Given the description of an element on the screen output the (x, y) to click on. 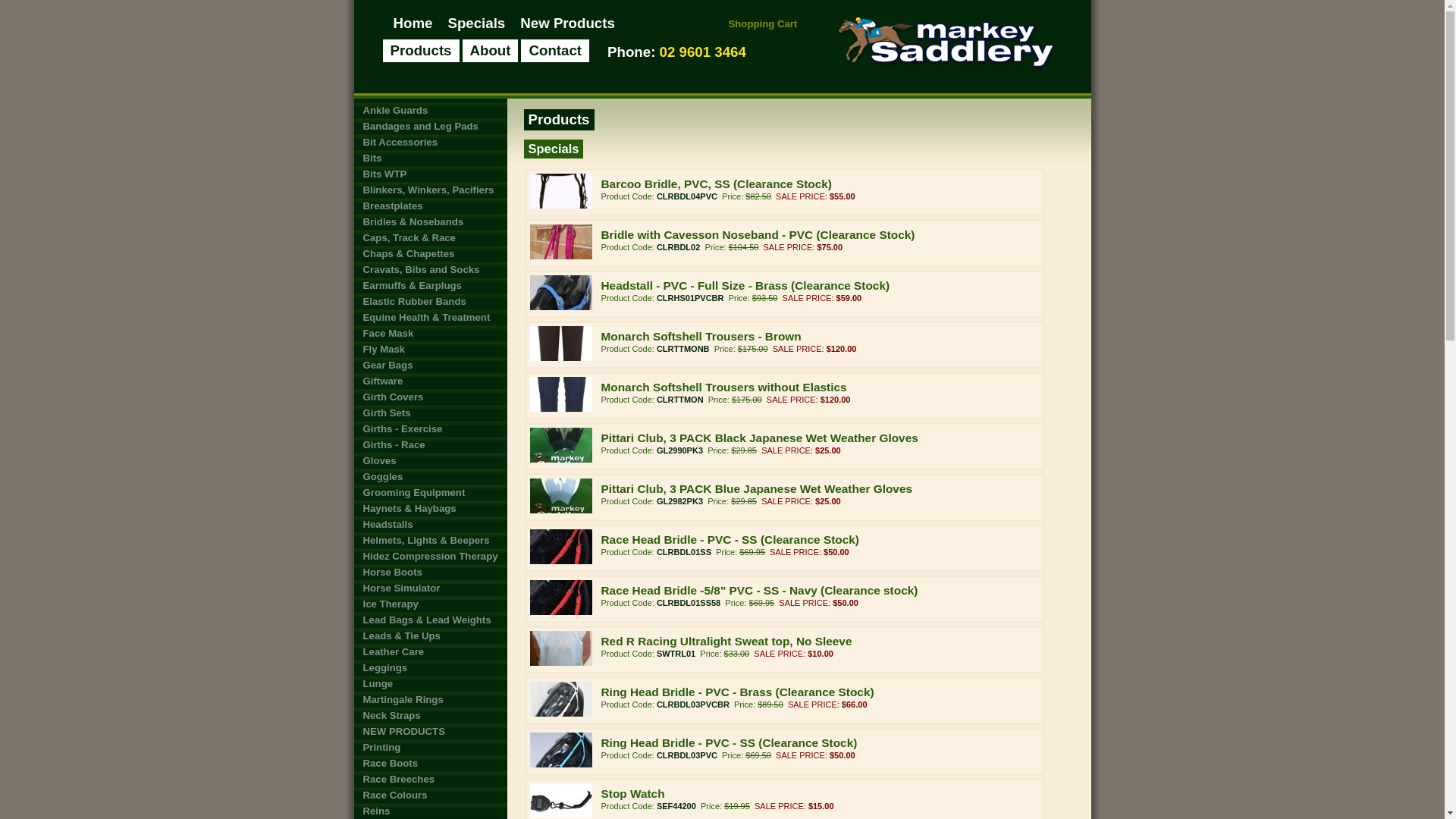
Leather Care Element type: text (429, 651)
Bits WTP Element type: text (429, 174)
Giftware Element type: text (429, 381)
Specials Element type: text (476, 23)
Race Colours Element type: text (429, 795)
Face Mask Element type: text (429, 333)
Leads & Tie Ups Element type: text (429, 635)
Printing Element type: text (429, 747)
Hidez Compression Therapy Element type: text (429, 556)
Contact Element type: text (554, 50)
Horse Simulator Element type: text (429, 588)
Helmets, Lights & Beepers Element type: text (429, 540)
Bridles & Nosebands Element type: text (429, 221)
Neck Straps Element type: text (429, 715)
Goggles Element type: text (429, 476)
Girths - Exercise Element type: text (429, 428)
About Element type: text (490, 50)
Race Breeches Element type: text (429, 779)
Horse Boots Element type: text (429, 572)
Bits Element type: text (429, 158)
Headstalls Element type: text (429, 524)
Chaps & Chapettes Element type: text (429, 253)
Leggings Element type: text (429, 667)
Products Element type: text (420, 50)
Girth Covers Element type: text (429, 396)
Breastplates Element type: text (429, 205)
Grooming Equipment Element type: text (429, 492)
New Products Element type: text (567, 23)
Gloves Element type: text (429, 460)
Shopping Cart Element type: text (762, 23)
Ice Therapy Element type: text (429, 603)
Race Boots Element type: text (429, 763)
Caps, Track & Race Element type: text (429, 237)
Bit Accessories Element type: text (429, 142)
Martingale Rings Element type: text (429, 699)
Girths - Race Element type: text (429, 444)
Lunge Element type: text (429, 683)
Ankle Guards Element type: text (429, 110)
Elastic Rubber Bands Element type: text (429, 301)
Haynets & Haybags Element type: text (429, 508)
NEW PRODUCTS Element type: text (429, 731)
Home Element type: text (412, 23)
Cravats, Bibs and Socks Element type: text (429, 269)
Lead Bags & Lead Weights Element type: text (429, 619)
Fly Mask Element type: text (429, 349)
Bandages and Leg Pads Element type: text (429, 126)
Girth Sets Element type: text (429, 412)
Equine Health & Treatment Element type: text (429, 317)
Earmuffs & Earplugs Element type: text (429, 285)
Blinkers, Winkers, Pacifiers Element type: text (429, 189)
Gear Bags Element type: text (429, 365)
